Given the description of an element on the screen output the (x, y) to click on. 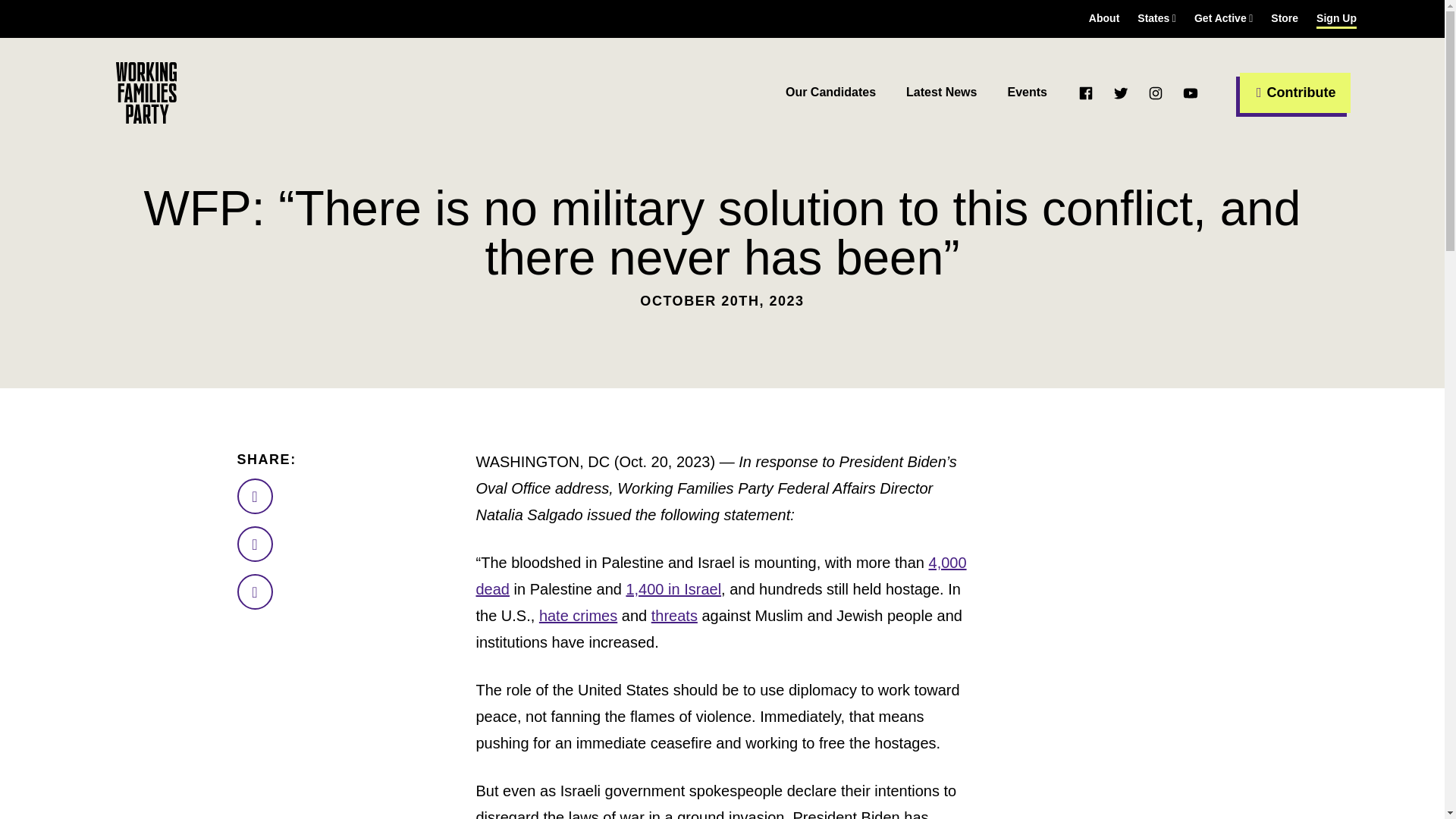
Facebook (1085, 93)
YouTube (1190, 93)
Working Families Party (145, 92)
Our Candidates (831, 92)
Sign Up (1336, 18)
Get Active (1222, 18)
Events (1026, 92)
About (1104, 18)
Twitter (1120, 93)
States (1156, 18)
Instagram (1155, 93)
Latest News (940, 92)
Store (1284, 18)
